Given the description of an element on the screen output the (x, y) to click on. 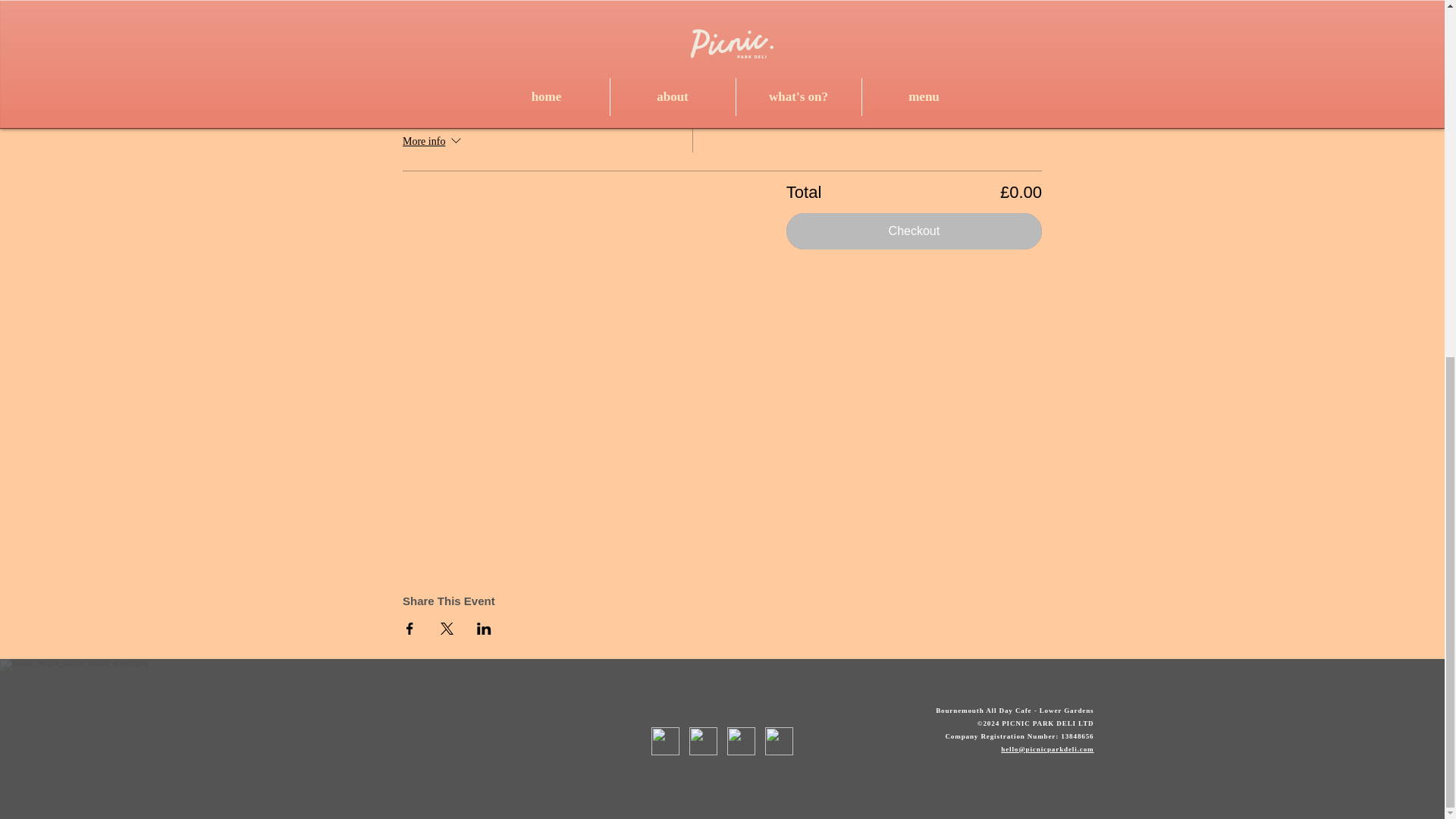
More info (433, 141)
Checkout (914, 230)
